Given the description of an element on the screen output the (x, y) to click on. 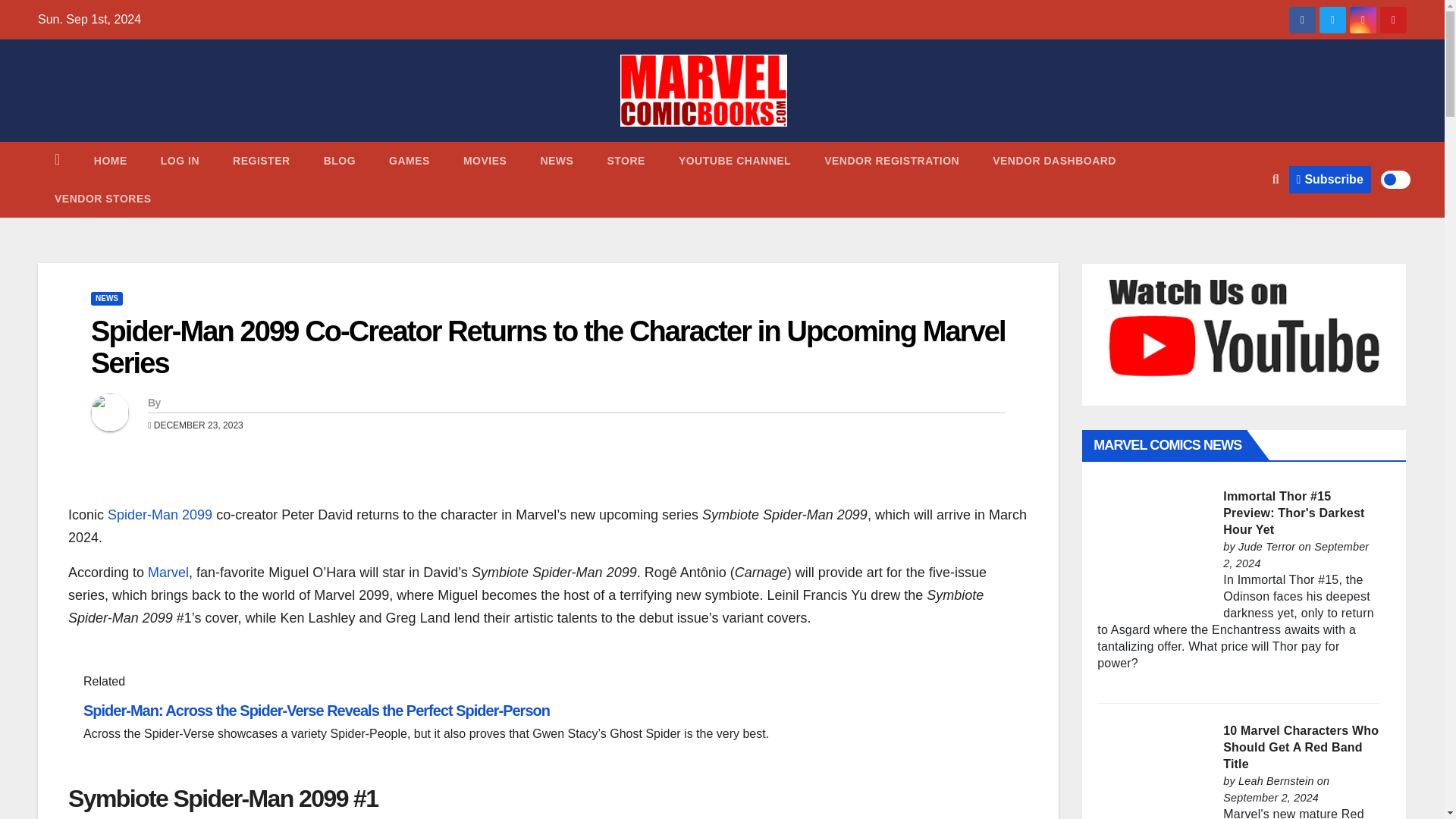
VENDOR DASHBOARD (1053, 160)
YOUTUBE CHANNEL (735, 160)
Games (409, 160)
VENDOR STORES (102, 198)
Log In (179, 160)
Blog (339, 160)
GAMES (409, 160)
VENDOR REGISTRATION (891, 160)
Movies (484, 160)
